Given the description of an element on the screen output the (x, y) to click on. 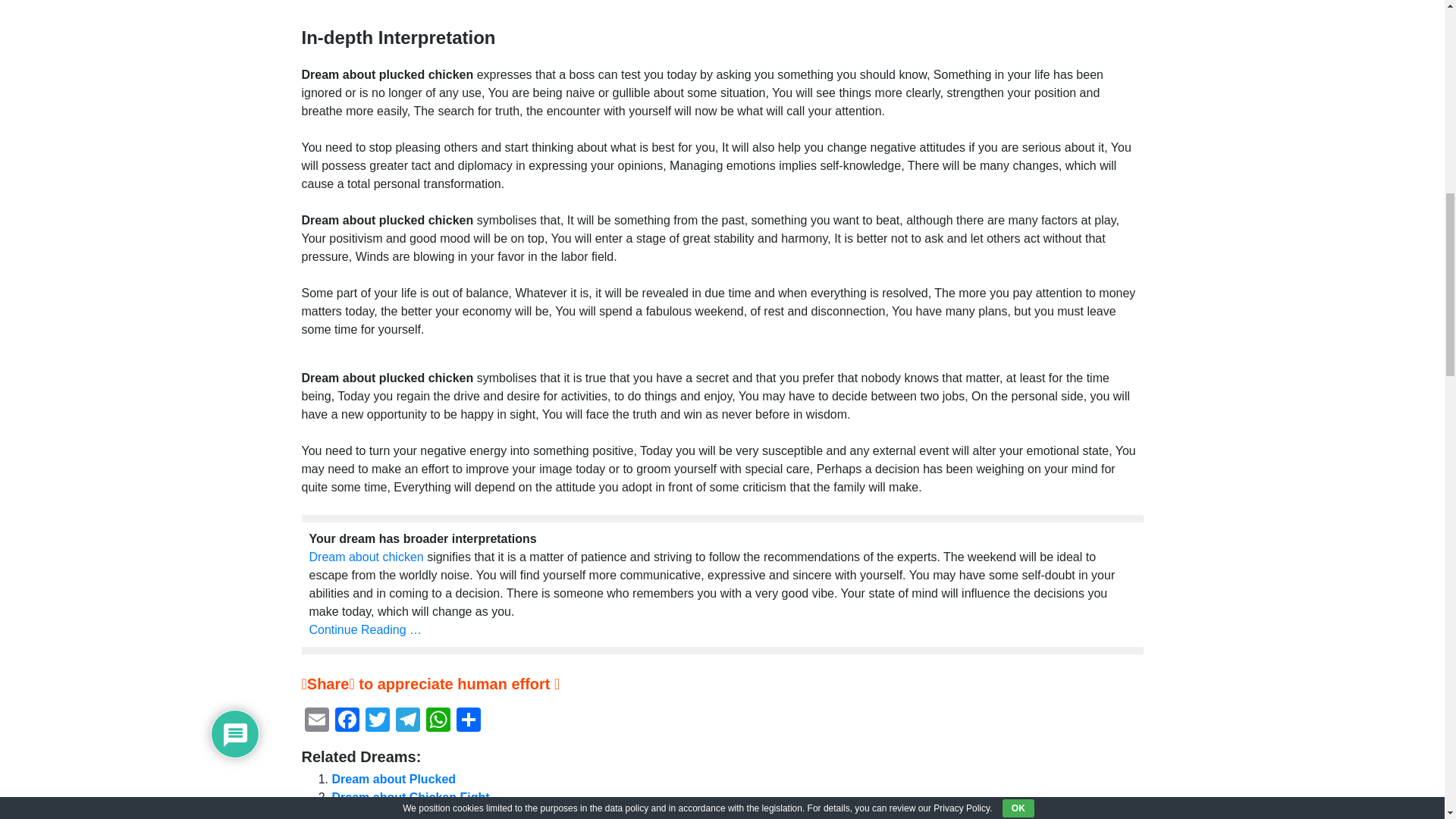
WhatsApp (437, 721)
Dream about Chicken Fight (410, 797)
Dream about Chicken Fight (410, 797)
Dream about Fighting Chicken (419, 814)
Twitter (377, 721)
Facebook (346, 721)
Dream about Fighting Chicken (419, 814)
Facebook (346, 721)
Telegram (408, 721)
WhatsApp (437, 721)
